Given the description of an element on the screen output the (x, y) to click on. 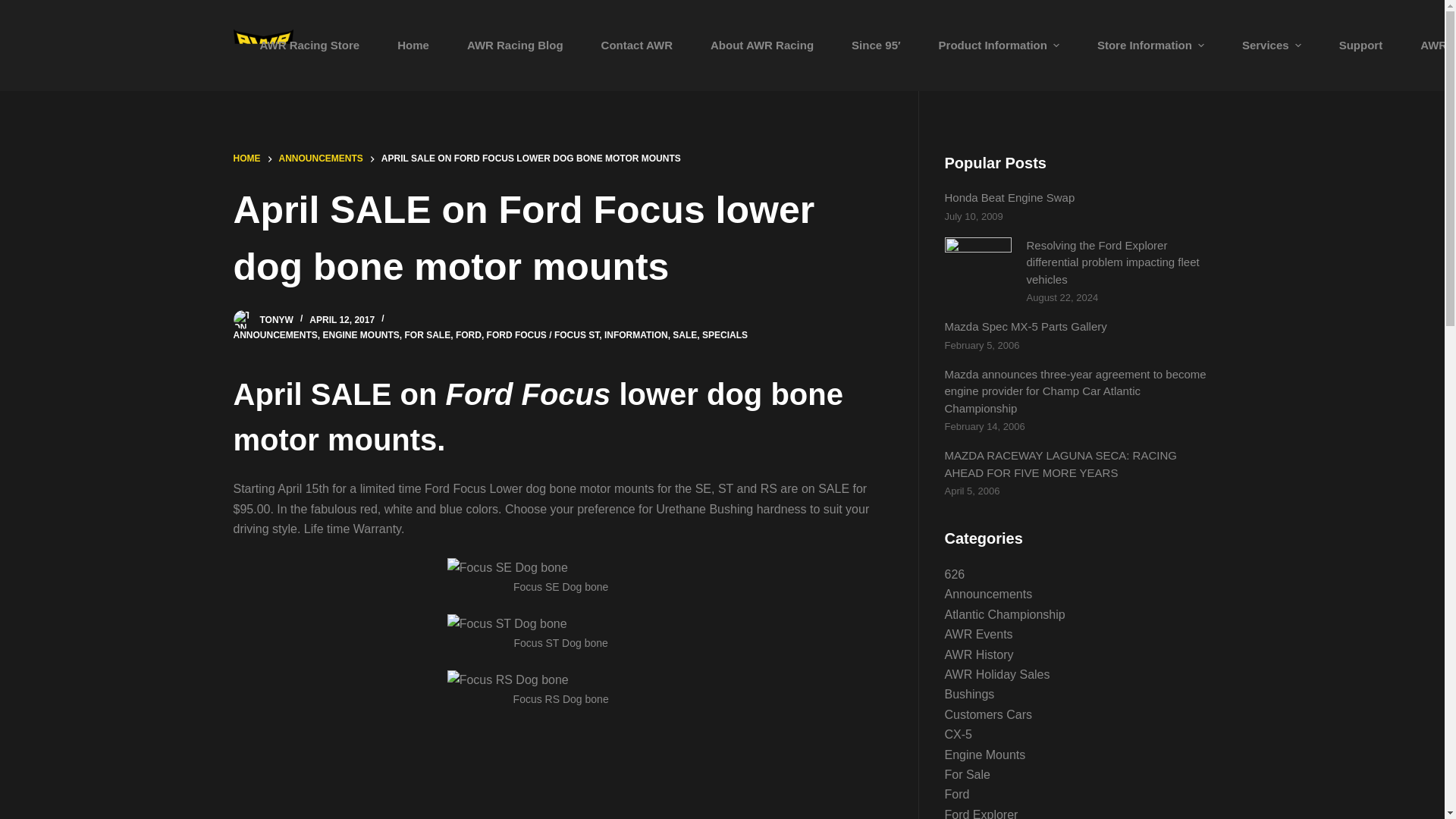
Skip to content (15, 7)
April SALE on Ford Focus lower dog bone motor mounts (560, 238)
Posts by tonyw (275, 319)
